Given the description of an element on the screen output the (x, y) to click on. 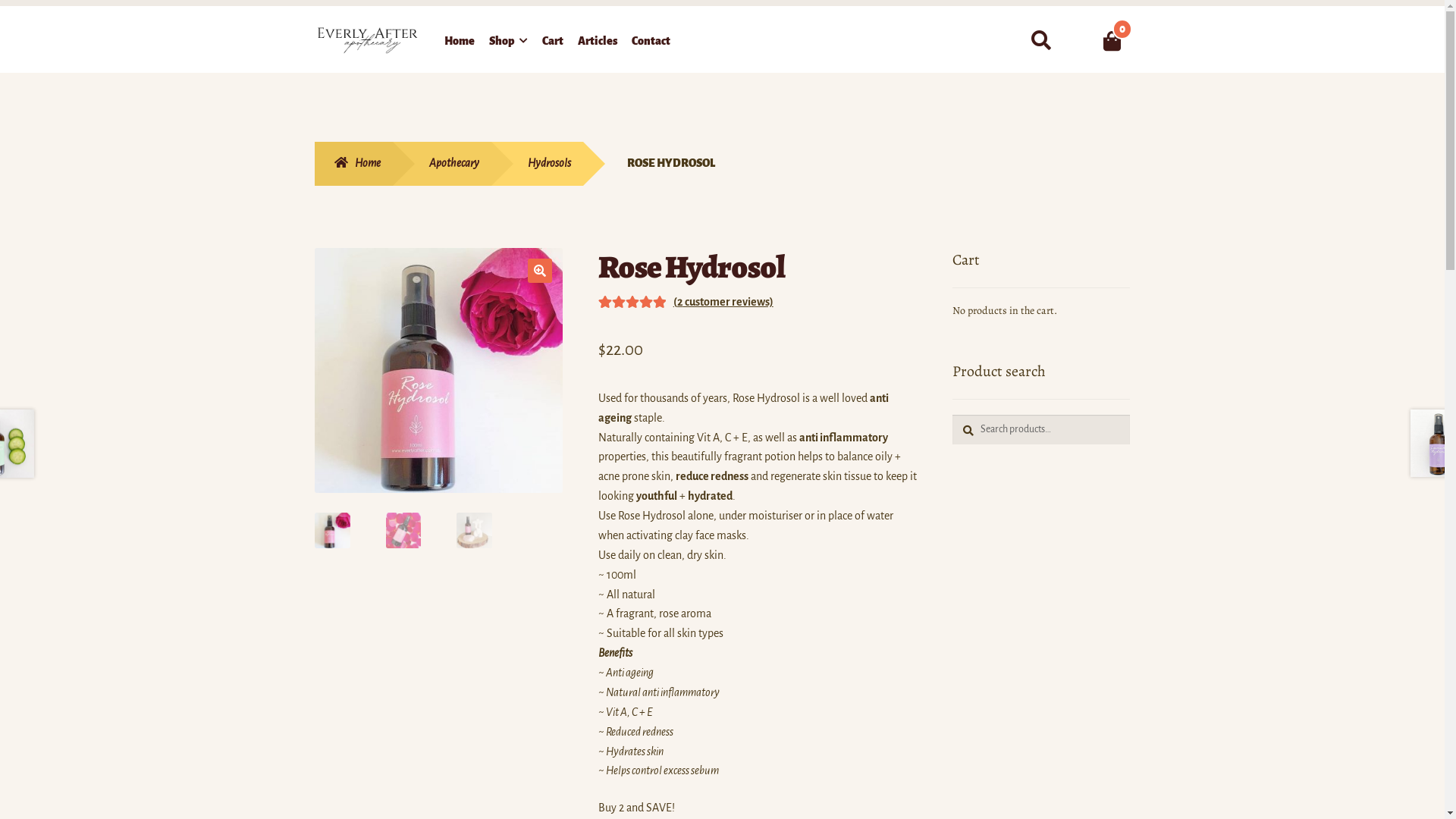
Home Element type: text (459, 43)
(2 customer reviews) Element type: text (723, 301)
Articles Element type: text (597, 43)
Search Element type: text (951, 414)
Search Element type: text (1022, 24)
Shop Element type: text (508, 43)
Cart Element type: text (552, 43)
Apothecary Element type: text (441, 163)
Home Element type: text (353, 163)
Skip to navigation Element type: text (313, 25)
Contact Element type: text (650, 43)
Hydrosols Element type: text (537, 163)
Rose Hydrosol Element type: hover (438, 370)
